Given the description of an element on the screen output the (x, y) to click on. 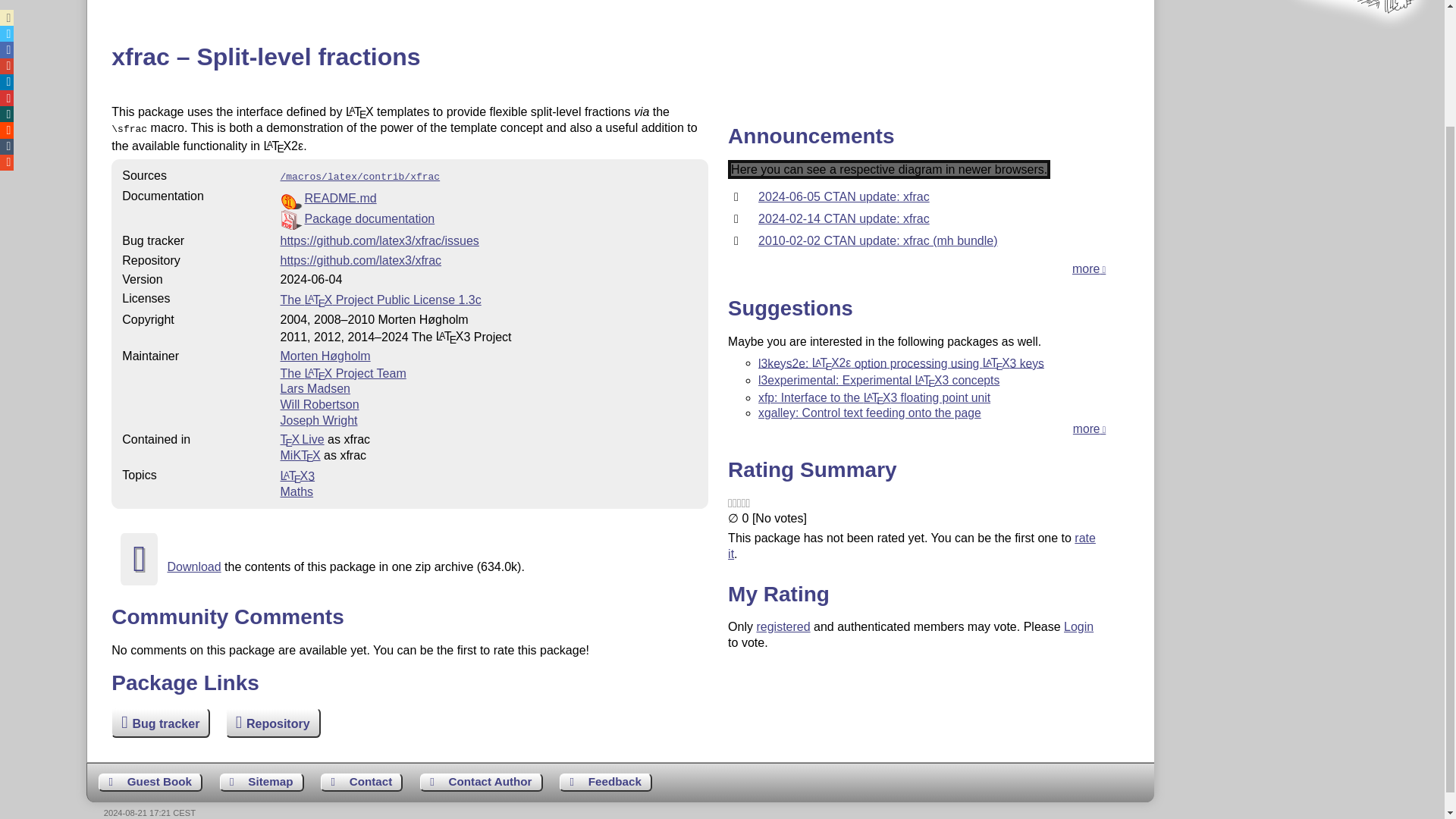
The LATEX Project Public License 1.3c (381, 299)
Send feedback on the current web page to the Web masters (605, 782)
Spectrum indicating the announcements for the package (888, 169)
The LATEX Project Team (343, 372)
CTAN lion drawing by Duane Bibby (1353, 42)
Read Me file (489, 199)
Show the structure of this site (261, 782)
Get help on how to contact an author (481, 782)
Portable Document Format (489, 219)
Get contact information for the Web site (361, 782)
